Given the description of an element on the screen output the (x, y) to click on. 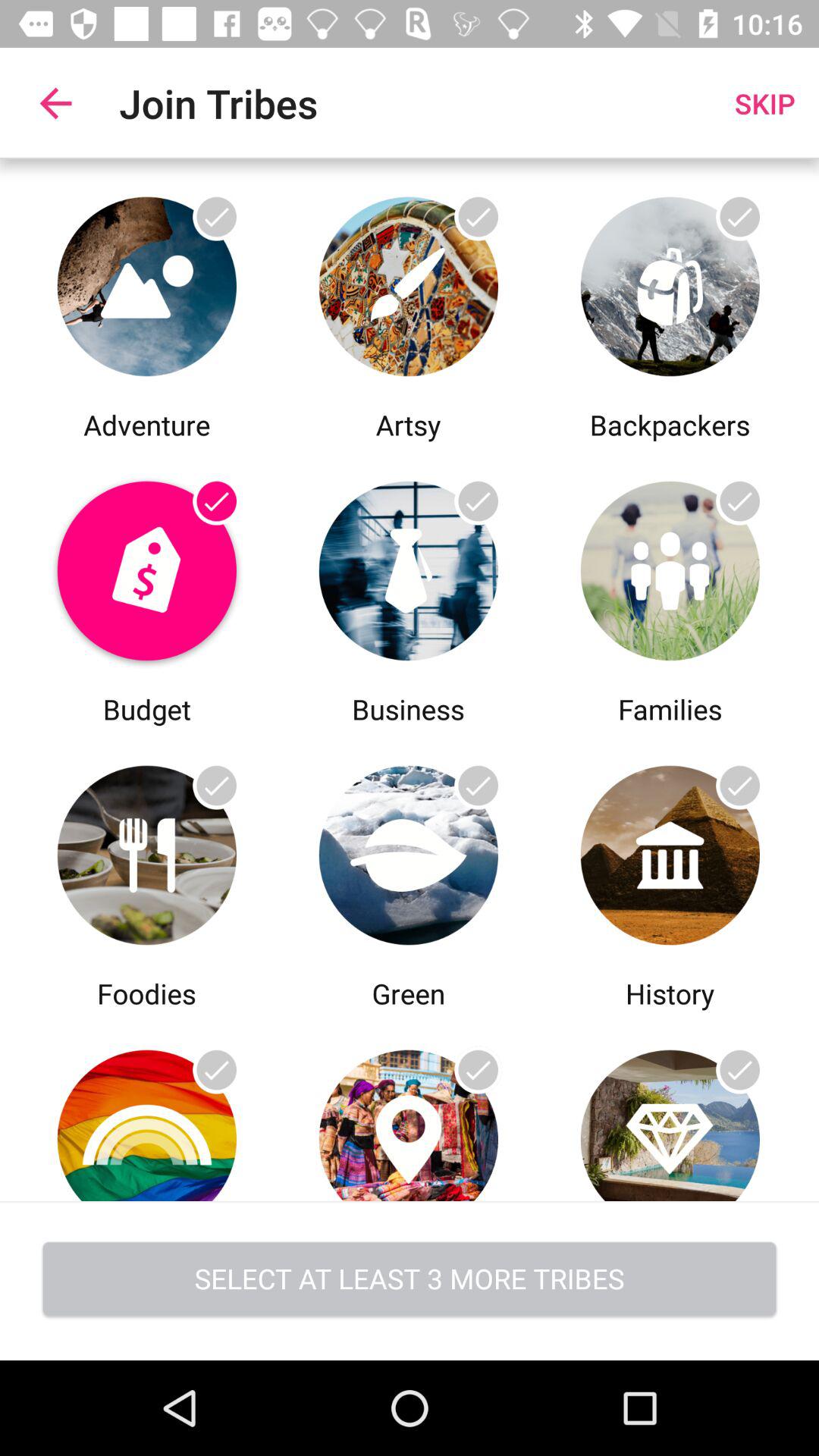
click on the foodies option (146, 851)
